Given the description of an element on the screen output the (x, y) to click on. 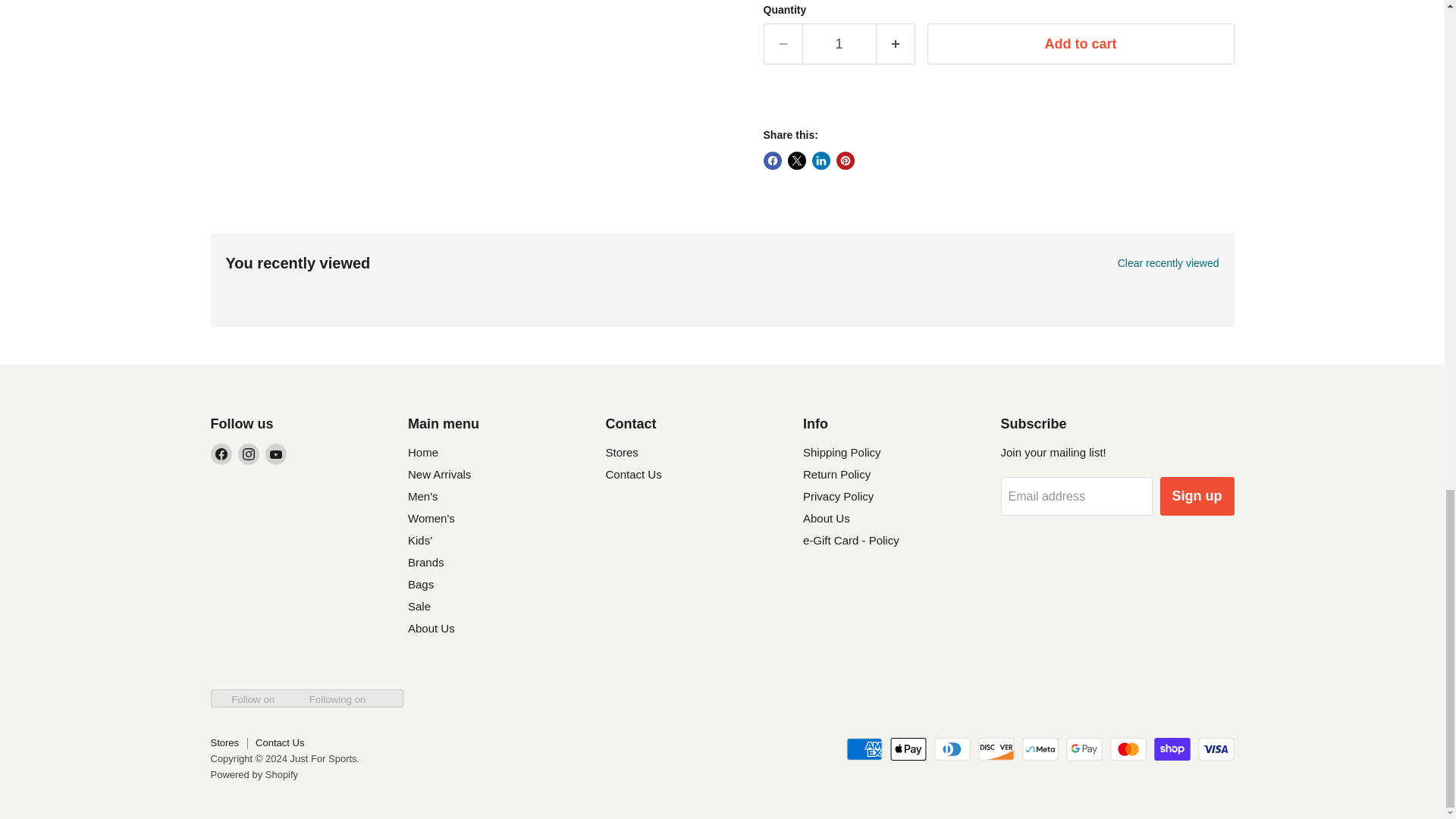
Instagram (248, 454)
1 (839, 44)
American Express (863, 748)
YouTube (275, 454)
Facebook (221, 454)
